Given the description of an element on the screen output the (x, y) to click on. 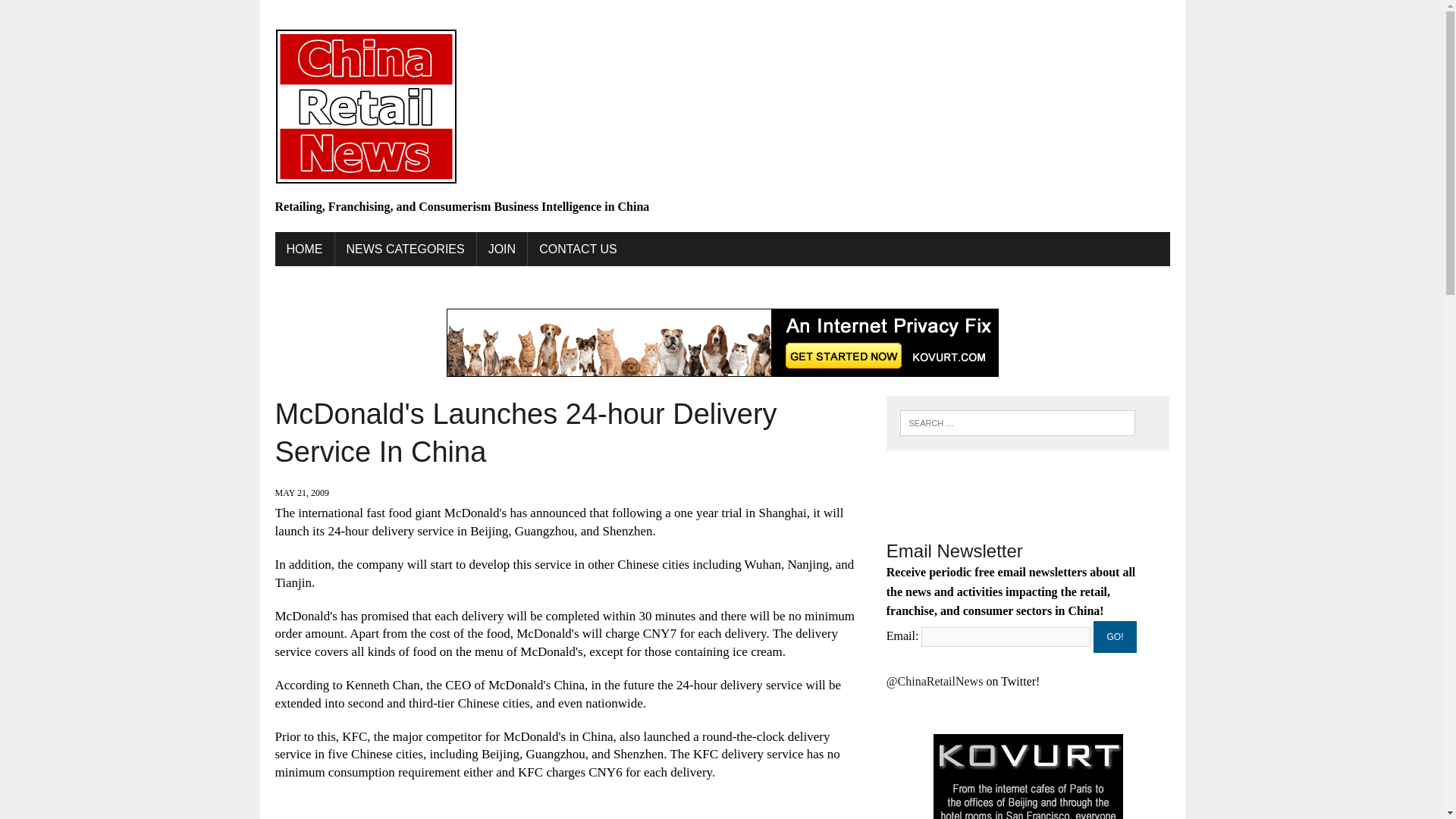
McDonald'S (697, 817)
Fast Food (479, 817)
Nanjing (754, 817)
Contact Us (577, 248)
Delivery (425, 817)
CONTACT US (577, 248)
Join (502, 248)
HOME (304, 248)
Ice Cream (601, 817)
KFC (647, 817)
Guangzhou (539, 817)
Shenzhen (806, 817)
NEWS CATEGORIES (405, 248)
Beijing (377, 817)
